Given the description of an element on the screen output the (x, y) to click on. 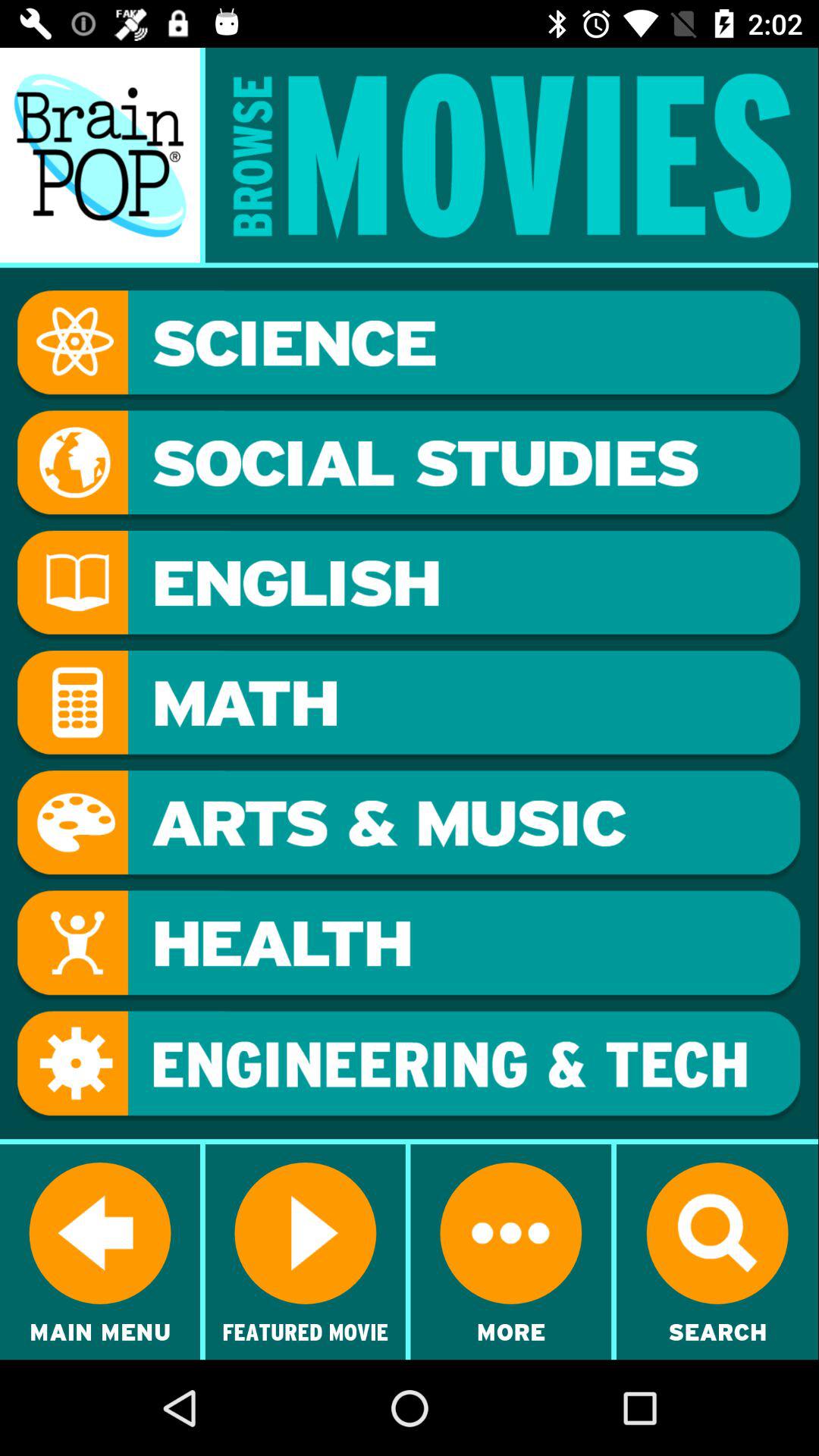
choose social studies (408, 464)
